Given the description of an element on the screen output the (x, y) to click on. 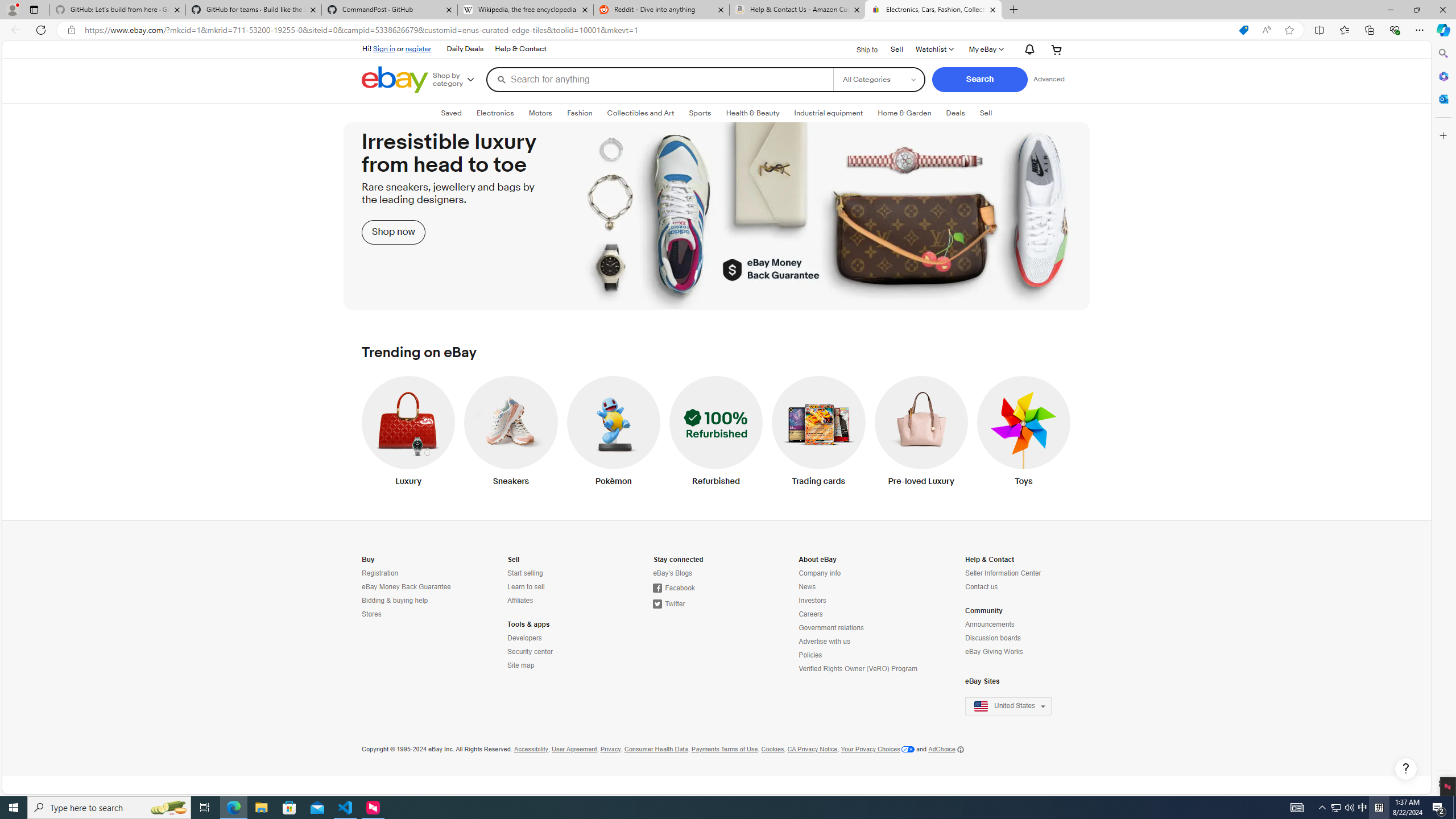
AdChoice (945, 749)
Policies (809, 655)
Careers (809, 614)
Site map (557, 665)
Your shopping cart (1056, 49)
Advertise with us (823, 641)
Affiliates (519, 600)
Security center (557, 652)
ElectronicsExpand: Electronics (494, 112)
Developers (523, 638)
